Given the description of an element on the screen output the (x, y) to click on. 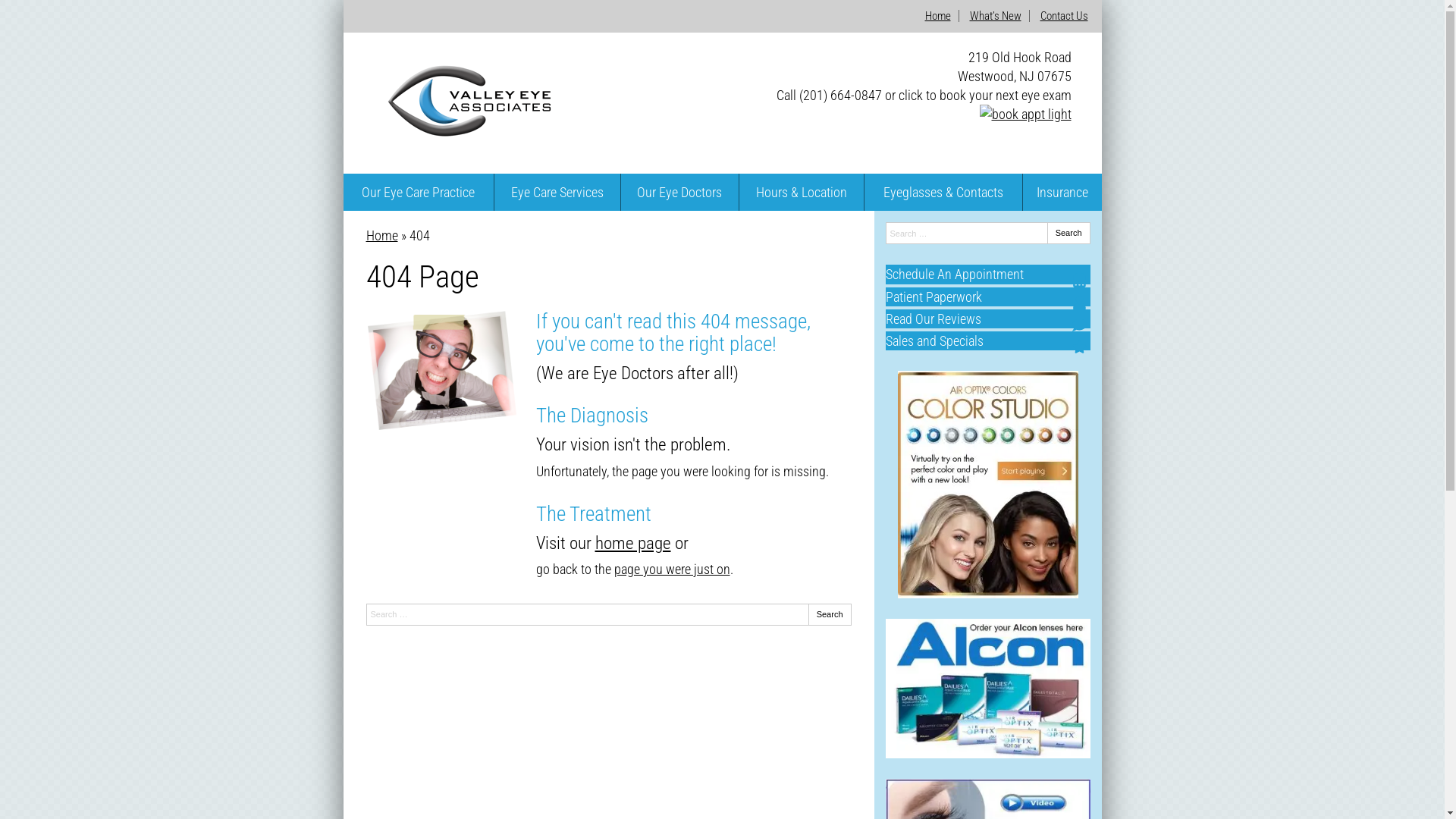
Contact Us Element type: text (1064, 15)
Hours & Location Element type: text (801, 191)
Our Eye Doctors Element type: text (679, 191)
Read Our Reviews Element type: text (987, 318)
Schedule An Appointment Element type: text (987, 273)
Eye Care Services Element type: text (557, 191)
Our Eye Care Practice Element type: text (417, 191)
Search Element type: text (1068, 233)
Eyeglasses & Contacts Element type: text (943, 191)
Search Element type: text (829, 614)
Patient Paperwork Element type: text (987, 296)
Insurance Element type: text (1061, 191)
home page Element type: text (632, 542)
Sales and Specials Element type: text (987, 340)
Valley Eye Associates Element type: hover (479, 133)
Home Element type: text (937, 15)
Home Element type: text (381, 235)
page you were just on Element type: text (672, 569)
